Given the description of an element on the screen output the (x, y) to click on. 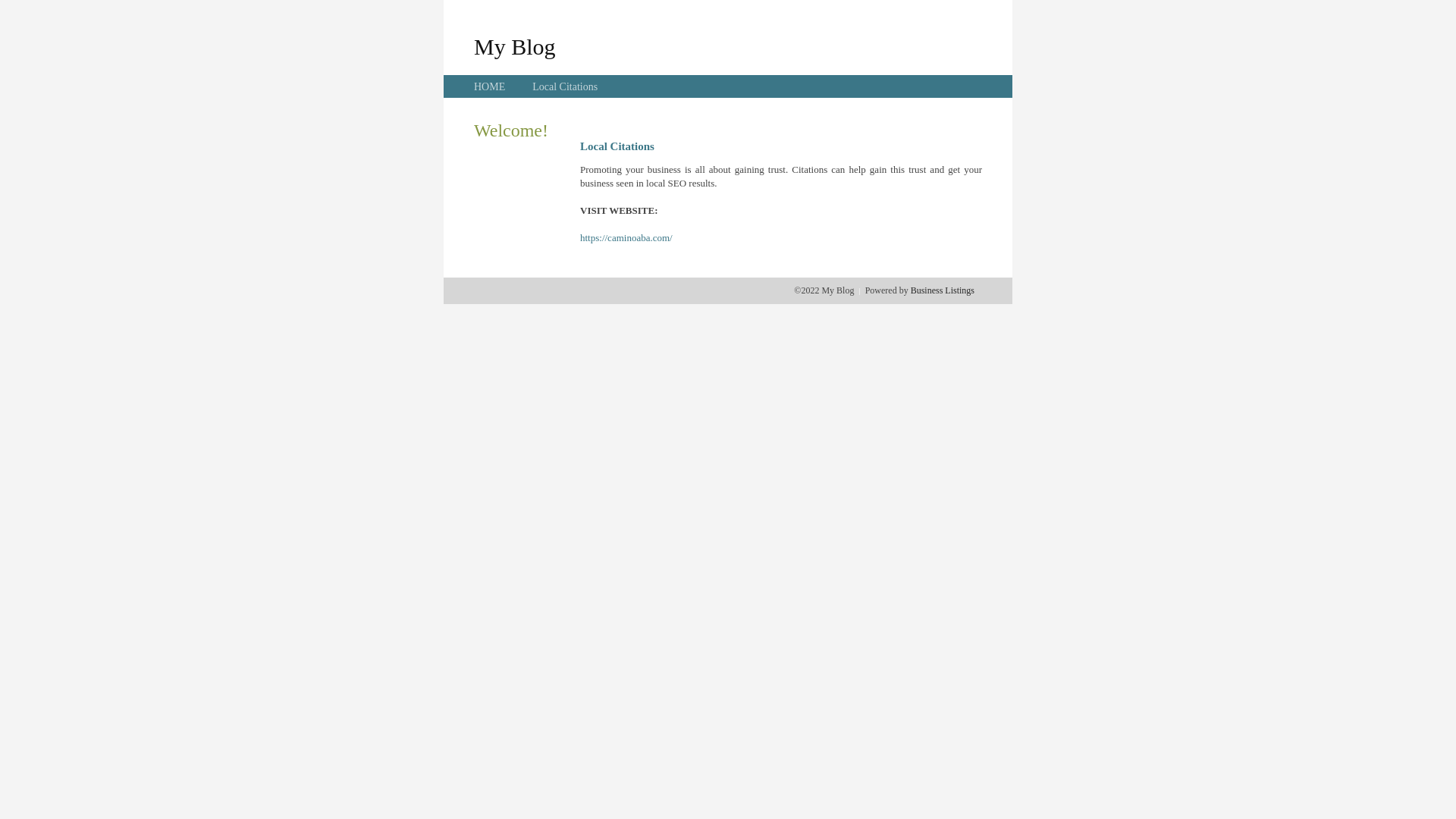
Business Listings Element type: text (942, 290)
https://caminoaba.com/ Element type: text (626, 237)
My Blog Element type: text (514, 46)
Local Citations Element type: text (564, 86)
HOME Element type: text (489, 86)
